Given the description of an element on the screen output the (x, y) to click on. 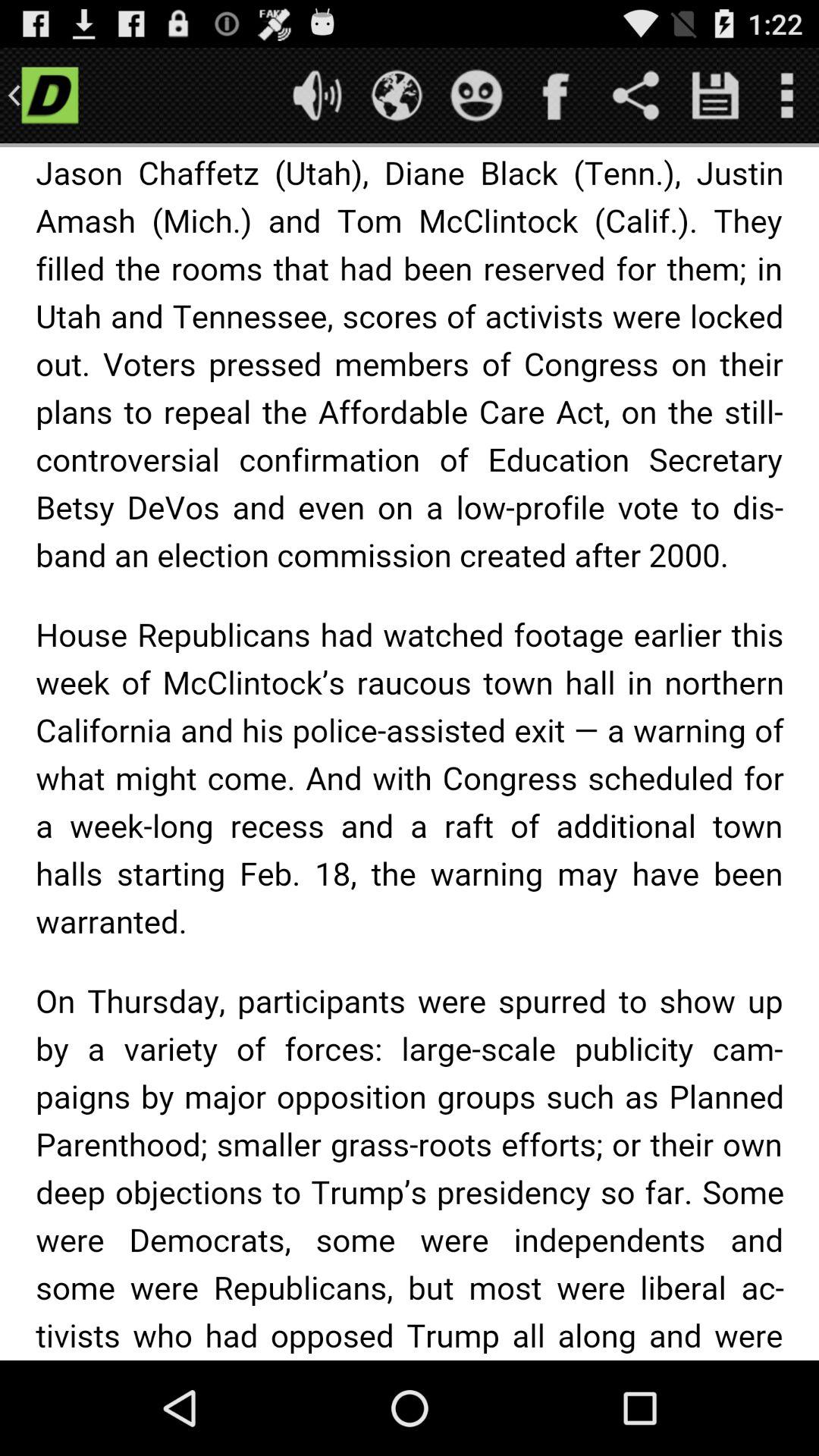
share the article (635, 95)
